Given the description of an element on the screen output the (x, y) to click on. 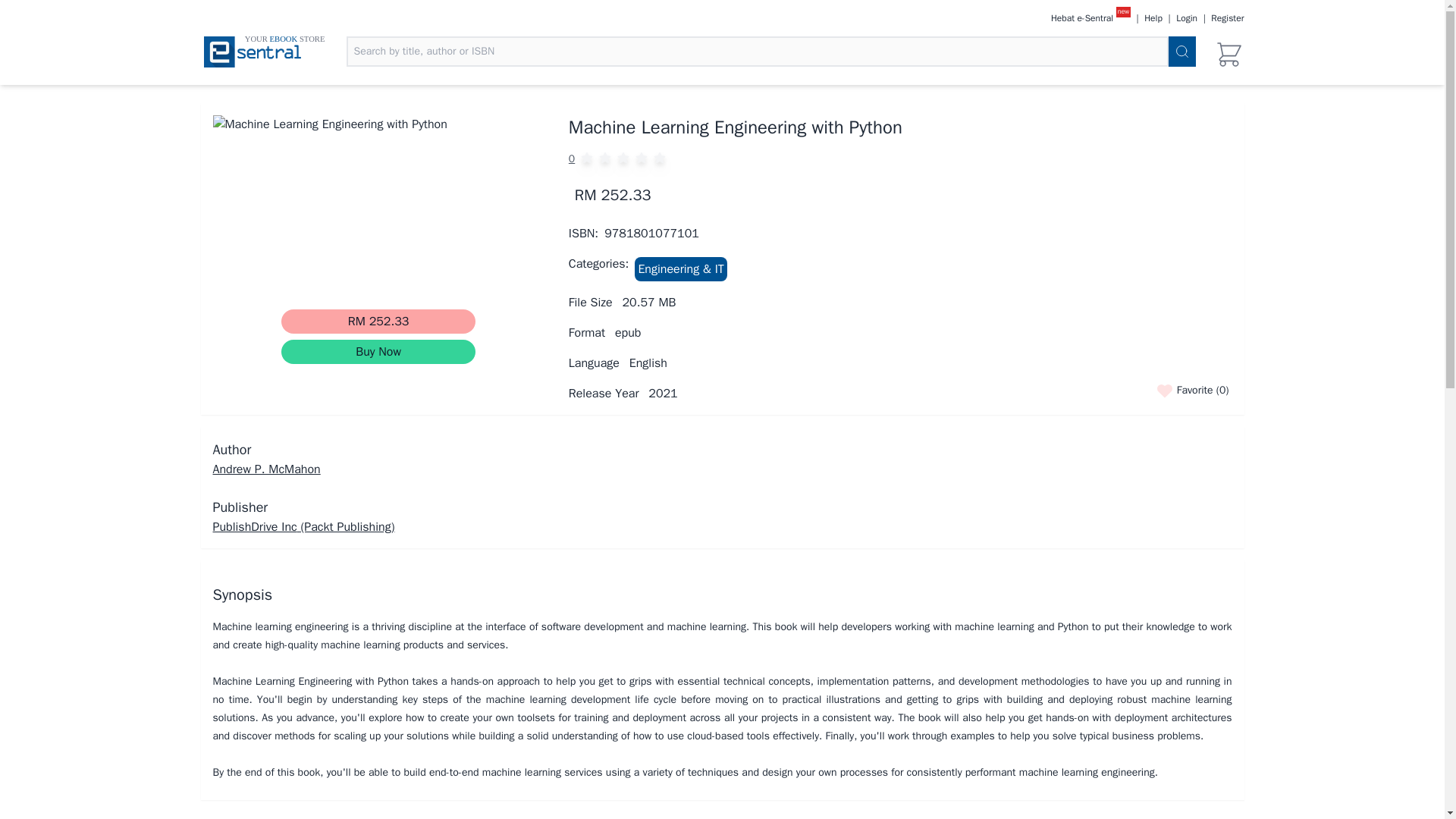
Help (1152, 18)
RM 252.33 (378, 321)
YOUR EBOOK STORE (251, 54)
Andrew P. McMahon (266, 468)
Hebat e-Sentral (1082, 18)
Register (1227, 18)
Login (1186, 18)
Buy Now (378, 351)
0 (900, 159)
